Given the description of an element on the screen output the (x, y) to click on. 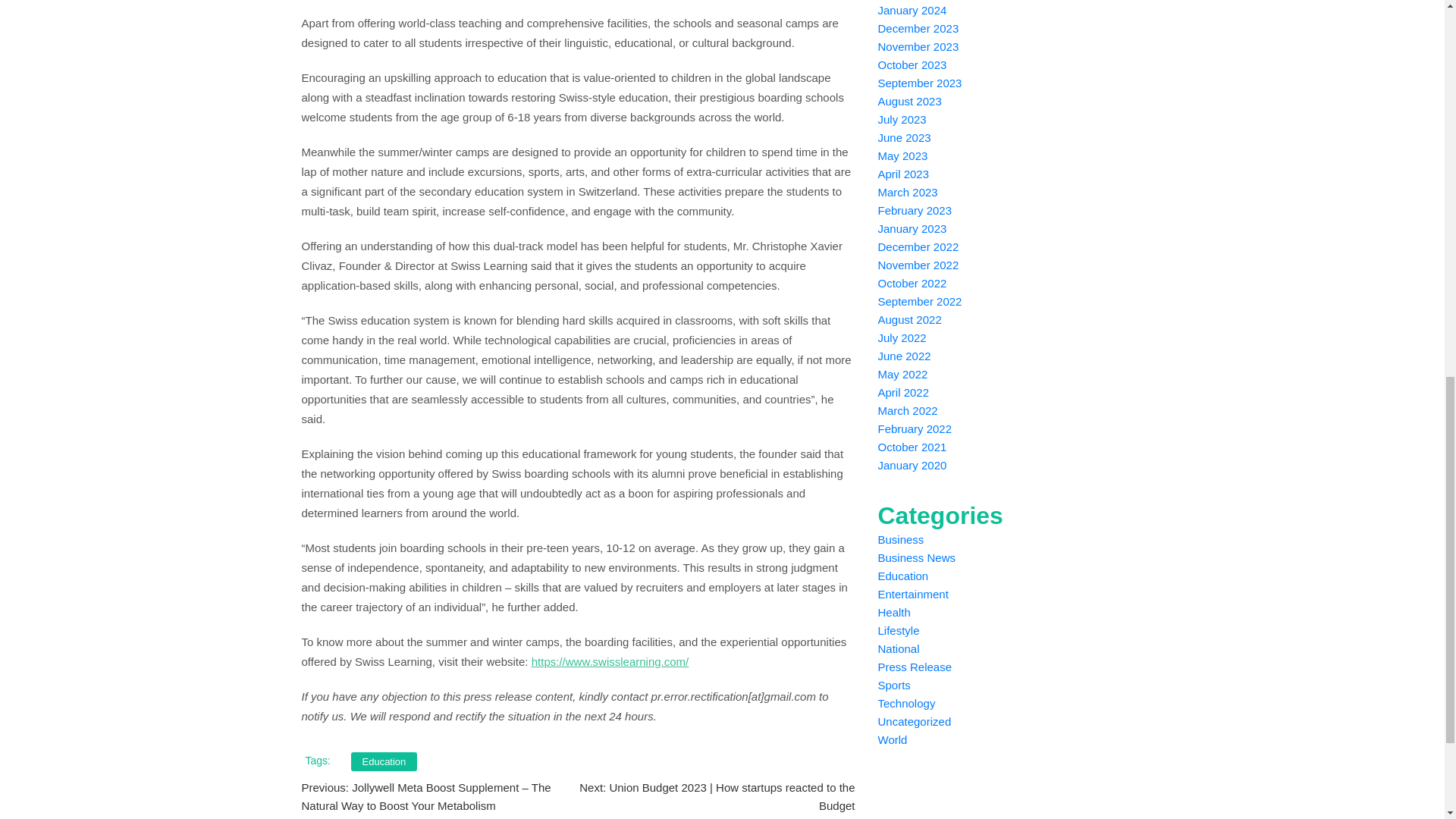
Education (383, 761)
